Given the description of an element on the screen output the (x, y) to click on. 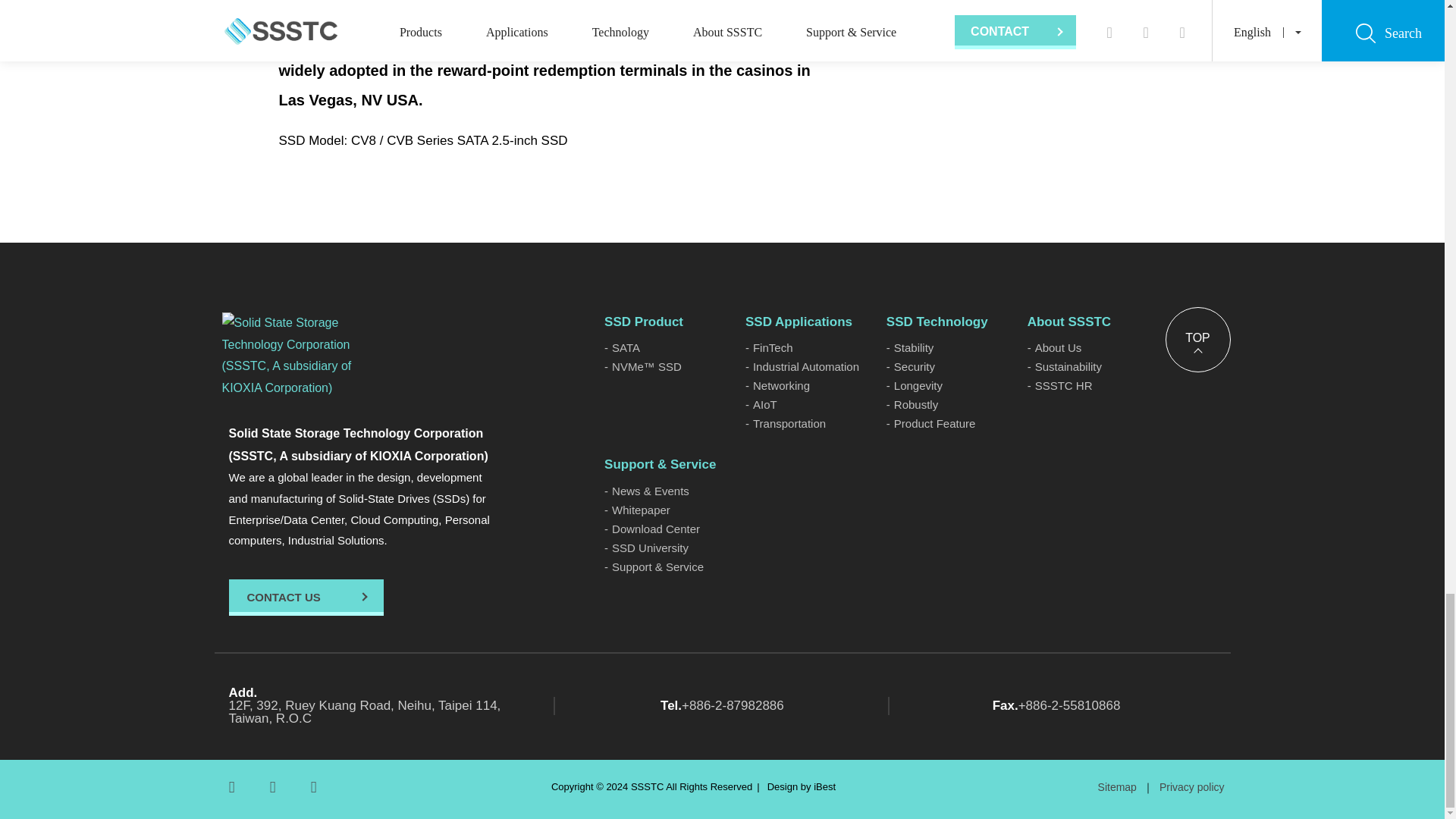
12F, 392, Ruey Kuang Road, Neihu, Taipei 114, Taiwan, R.O.C (388, 705)
Facebook (231, 787)
a-2-02 (1016, 35)
Instagram (312, 787)
Youtube (271, 787)
